Given the description of an element on the screen output the (x, y) to click on. 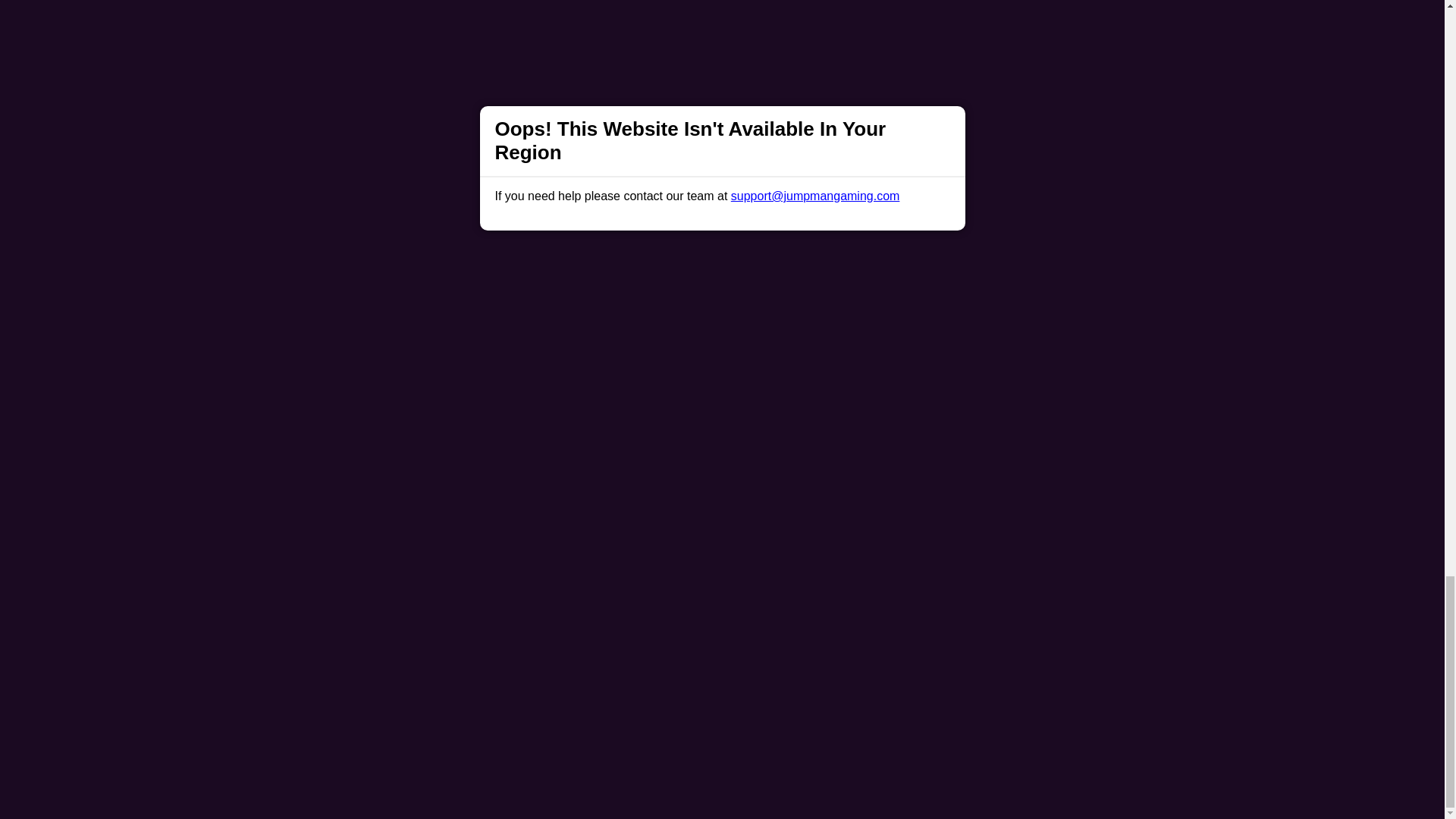
Back To All Games (721, 393)
slots game (960, 290)
Help (489, 491)
Responsible Gaming (407, 491)
Back To All Games (722, 393)
